Given the description of an element on the screen output the (x, y) to click on. 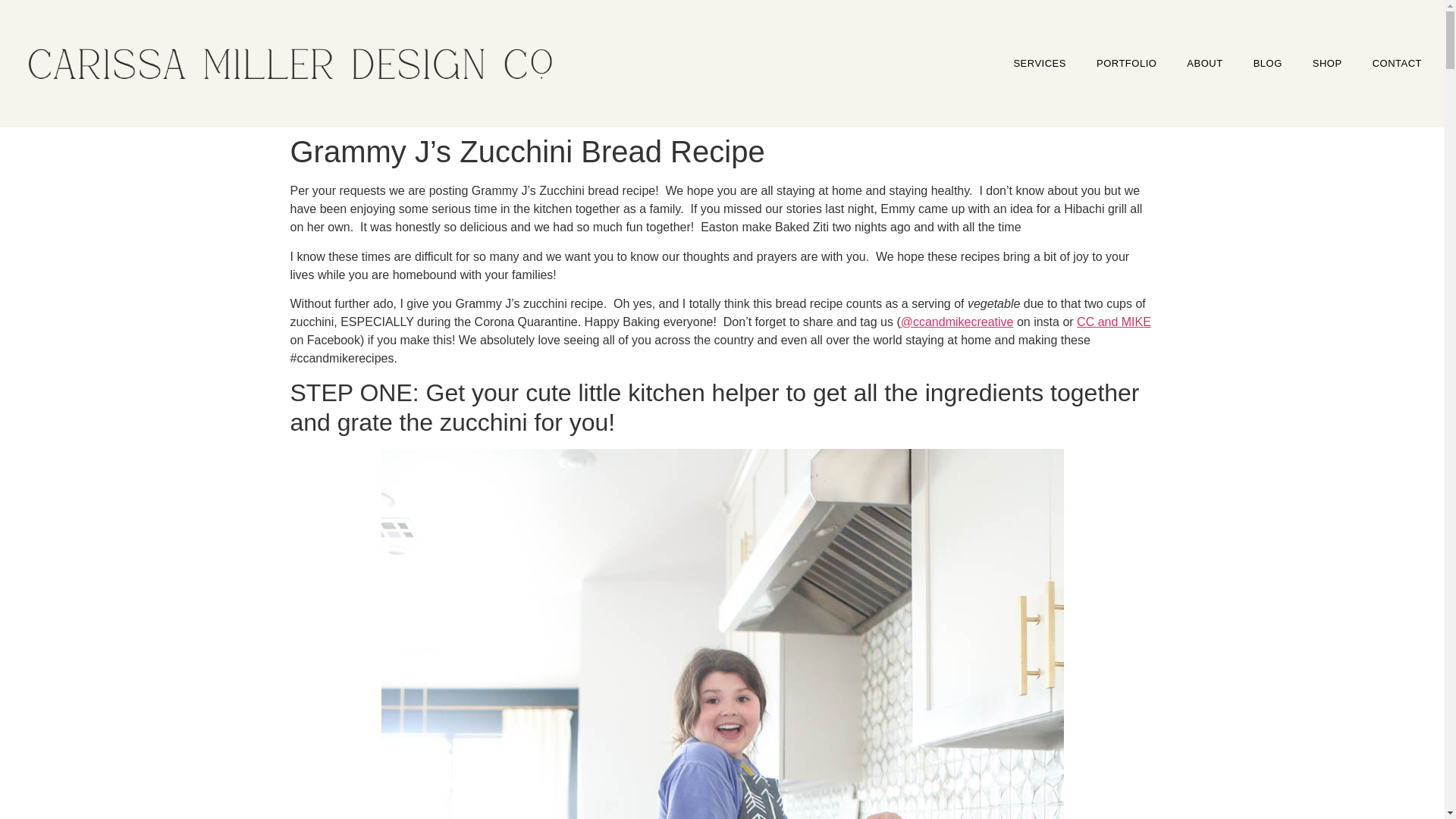
PORTFOLIO (1126, 63)
ABOUT (1204, 63)
SHOP (1326, 63)
CONTACT (1396, 63)
SERVICES (1039, 63)
BLOG (1268, 63)
CC and MIKE (1114, 321)
